Given the description of an element on the screen output the (x, y) to click on. 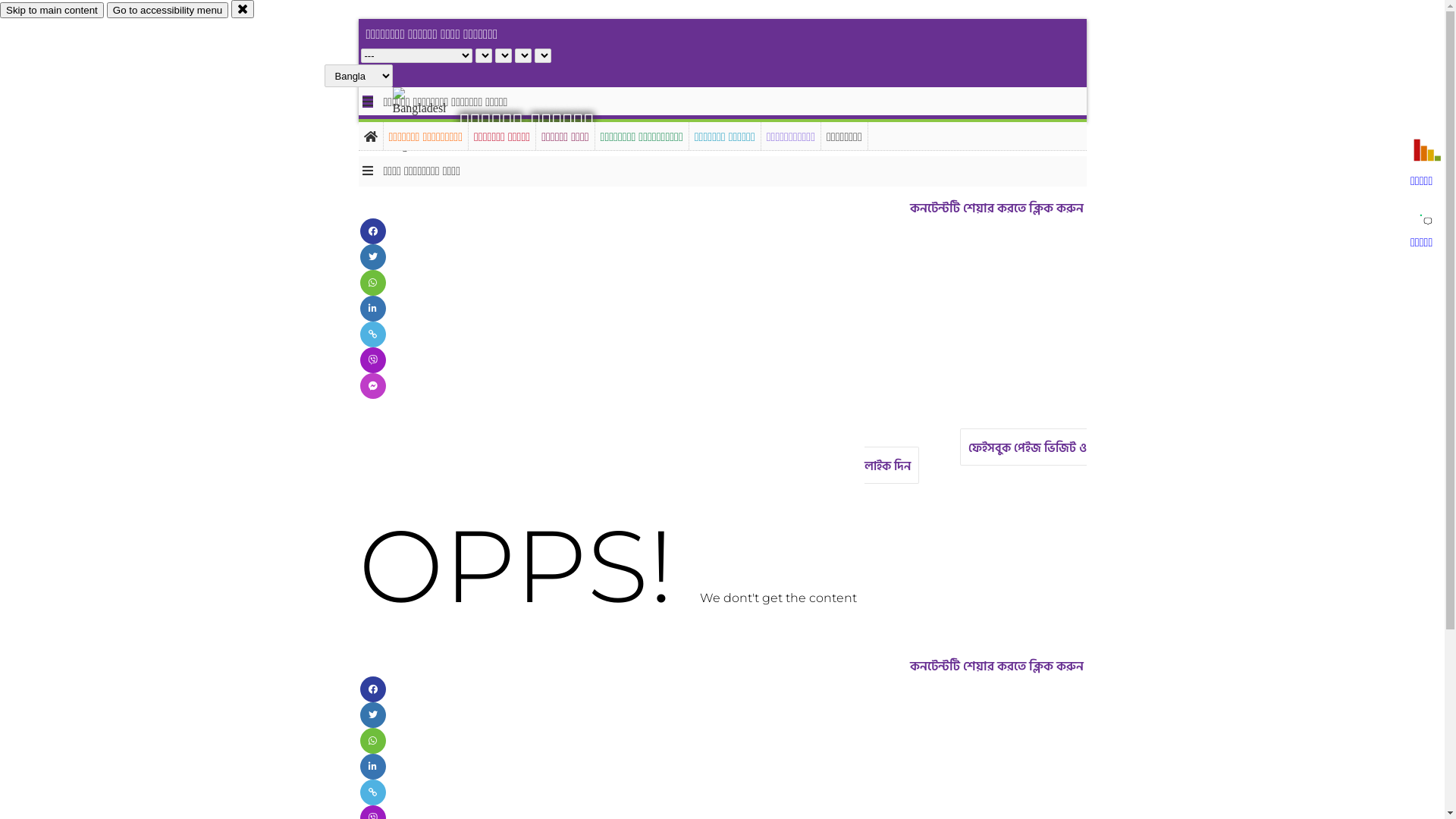
close Element type: hover (242, 9)
Go to accessibility menu Element type: text (167, 10)
Skip to main content Element type: text (51, 10)

                
             Element type: hover (431, 120)
